Given the description of an element on the screen output the (x, y) to click on. 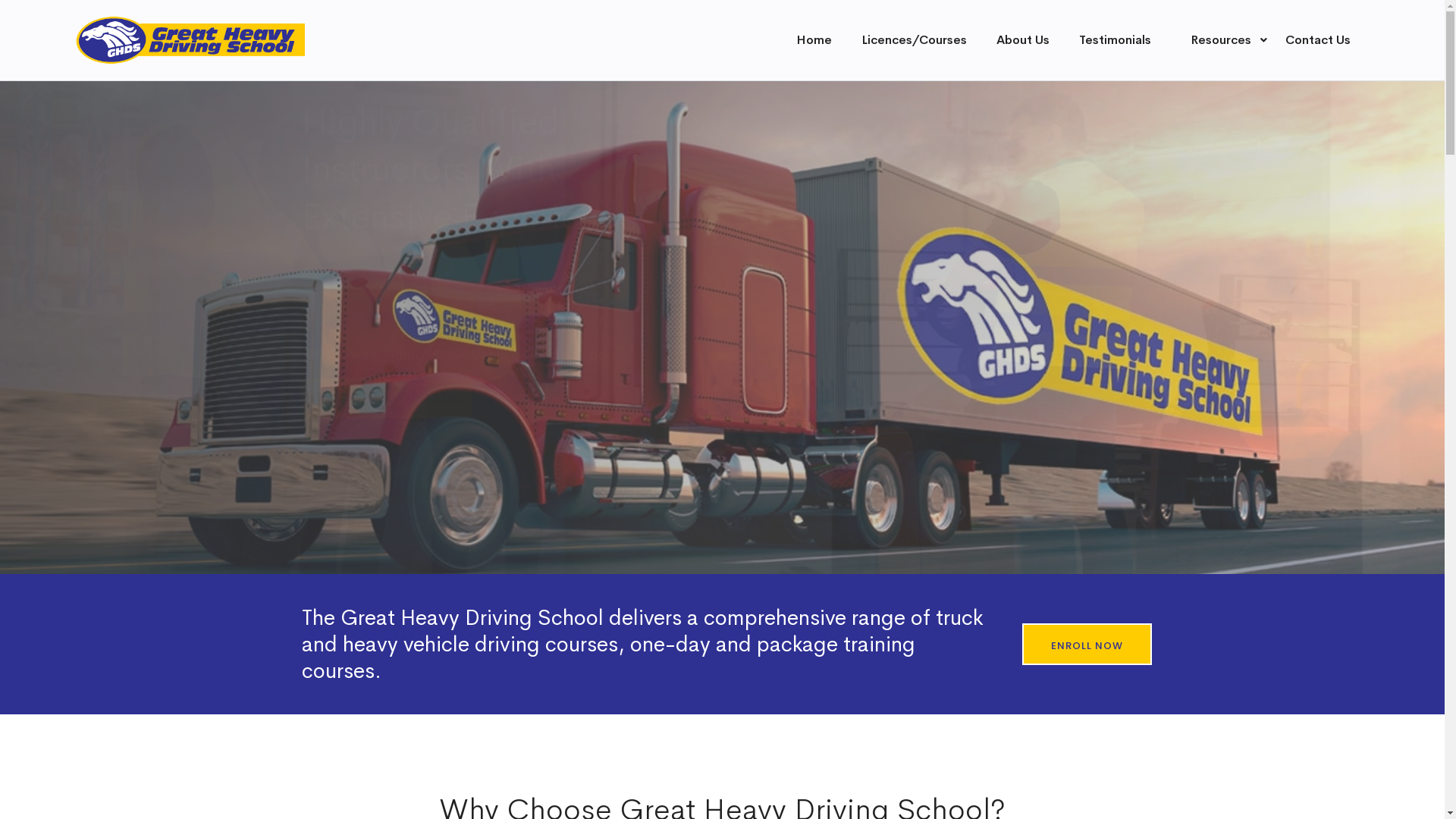
ENROLL NOW Element type: text (1086, 644)
Licences/Courses Element type: text (914, 39)
Resources Element type: text (1223, 39)
Testimonials Element type: text (1114, 39)
About Us Element type: text (1022, 39)
CALL NOW : 0450 673 385 Element type: text (386, 428)
Home Element type: text (813, 39)
Contact Us Element type: text (1317, 39)
